Given the description of an element on the screen output the (x, y) to click on. 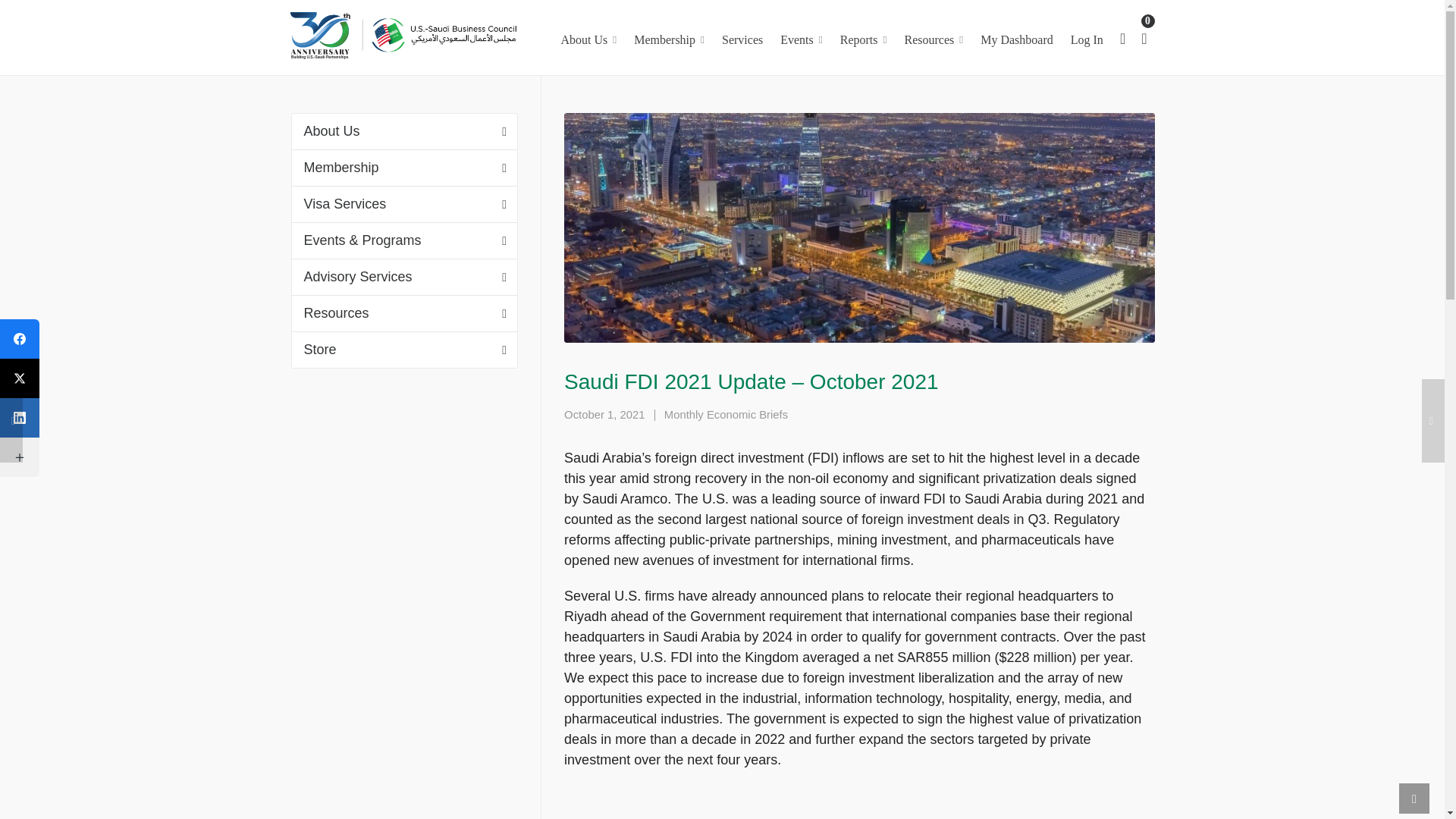
About Us (587, 38)
